Given the description of an element on the screen output the (x, y) to click on. 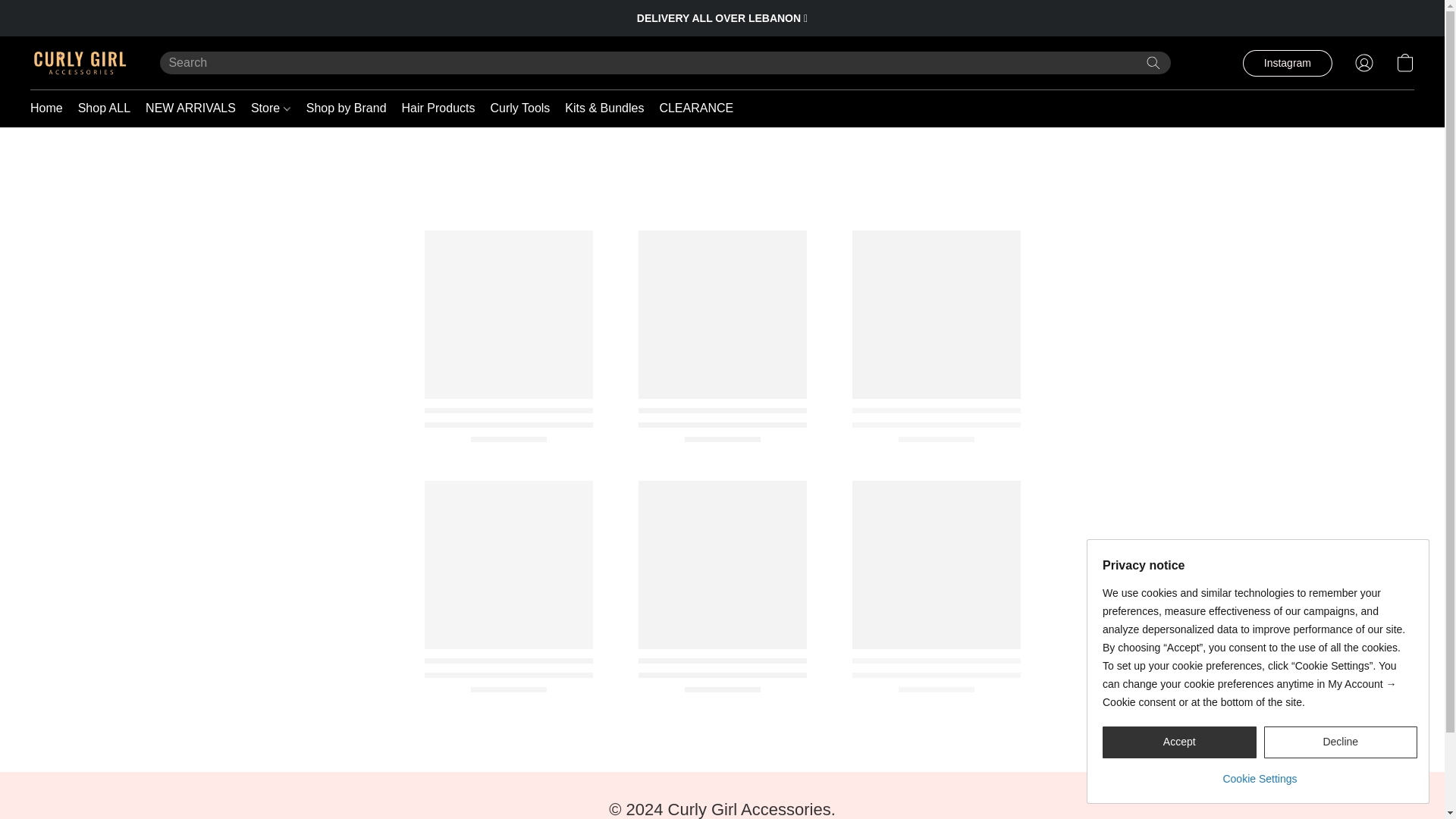
Cookie Settings (1259, 772)
Shop ALL (103, 108)
CLEARANCE (691, 108)
Curly Tools (519, 108)
Accept (1179, 742)
Shop by Brand (346, 108)
Go to your shopping cart (1404, 62)
Store (270, 108)
NEW ARRIVALS (190, 108)
Instagram (1287, 62)
